Given the description of an element on the screen output the (x, y) to click on. 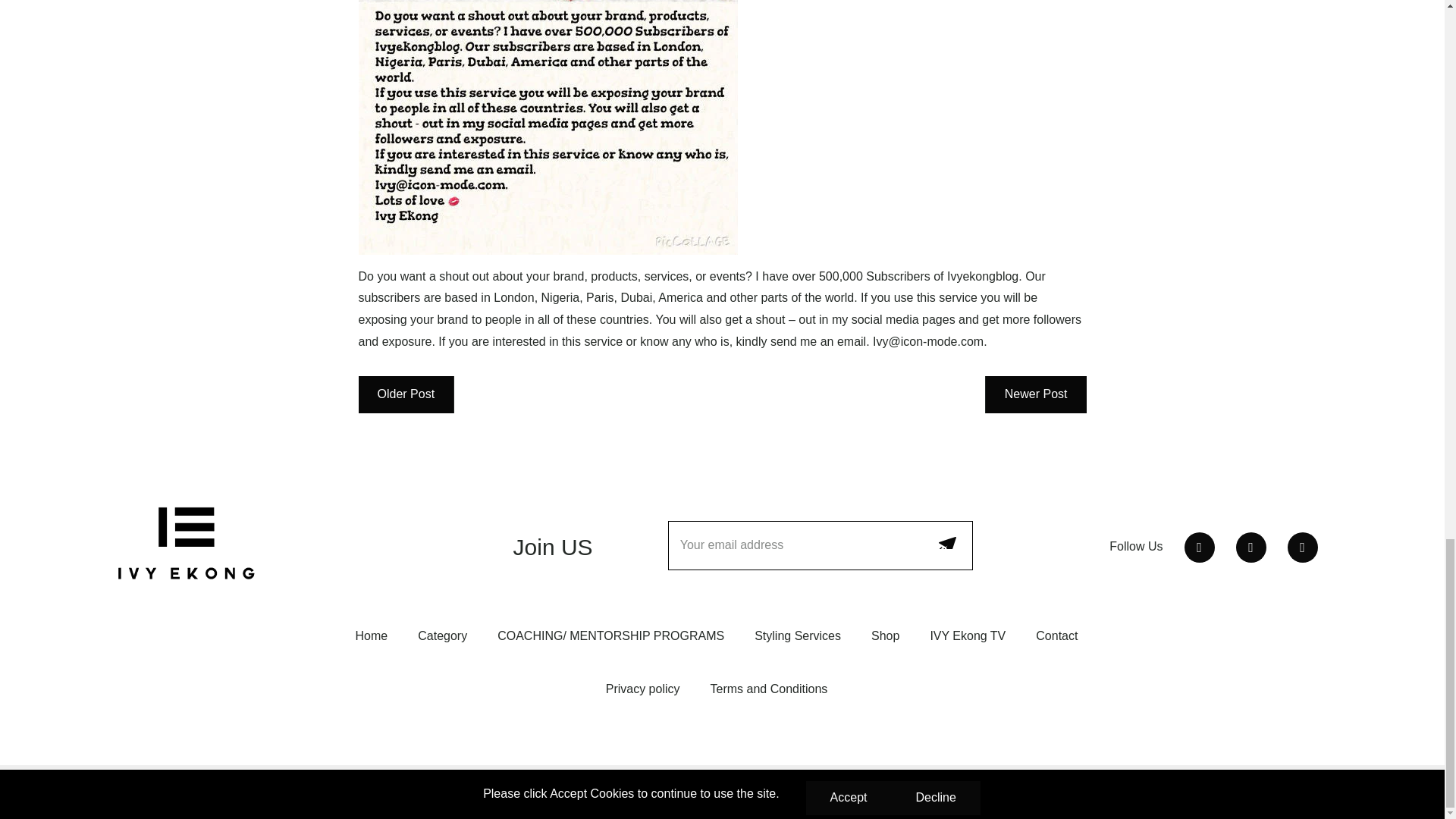
Mastercard (1185, 792)
Google Pay (1121, 792)
Newer Post (1035, 394)
Twitter (1199, 547)
Discover (1090, 792)
Shop Pay (1249, 792)
Styling Services (797, 635)
Category (442, 635)
PayPal (1217, 792)
Contact (1056, 635)
